Given the description of an element on the screen output the (x, y) to click on. 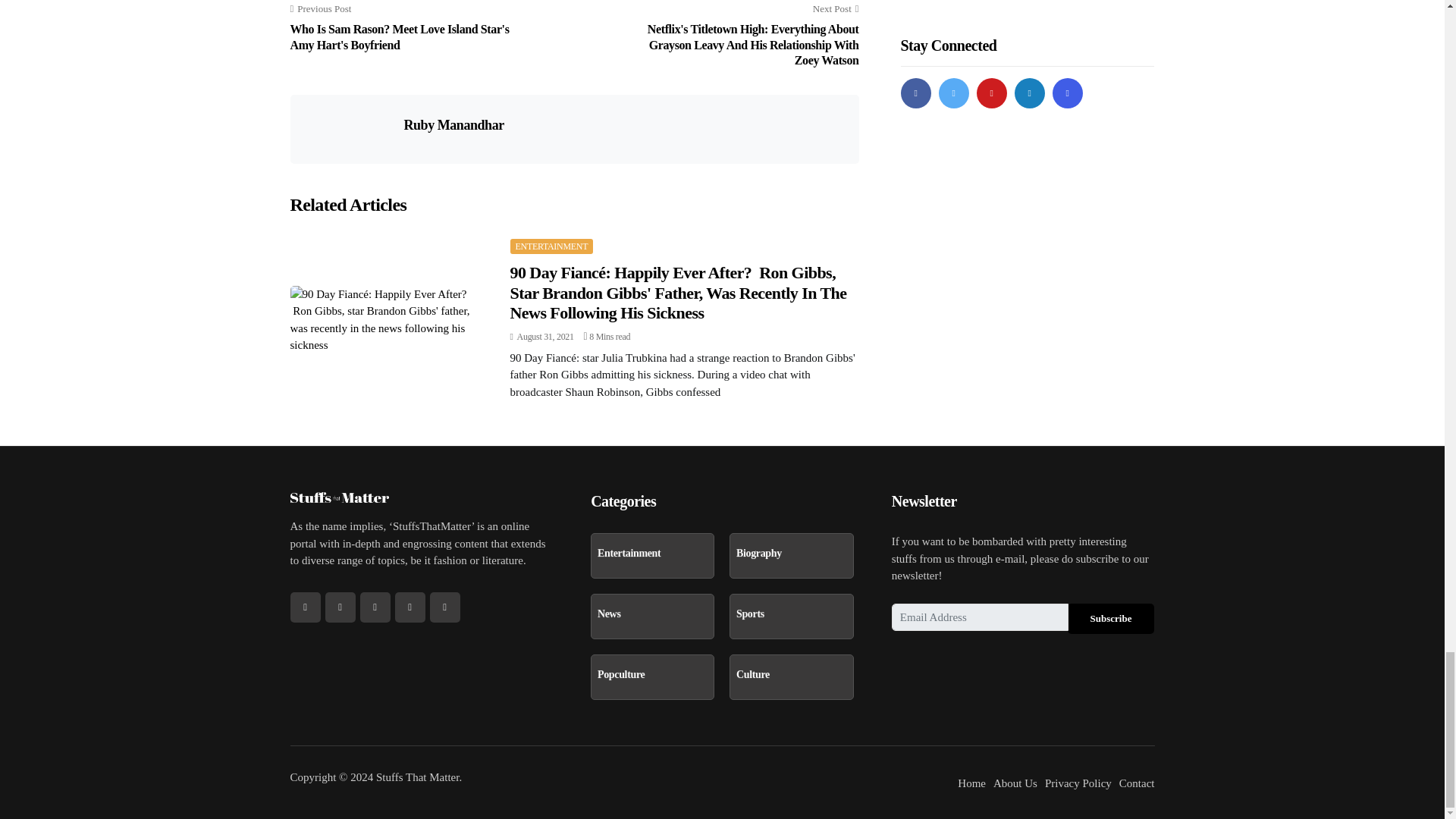
Contact (1136, 783)
Privacy Policy (1078, 783)
Home (971, 783)
ENTERTAINMENT (550, 246)
About Us (1014, 783)
August 31, 2021 11:36 AM (541, 336)
